Given the description of an element on the screen output the (x, y) to click on. 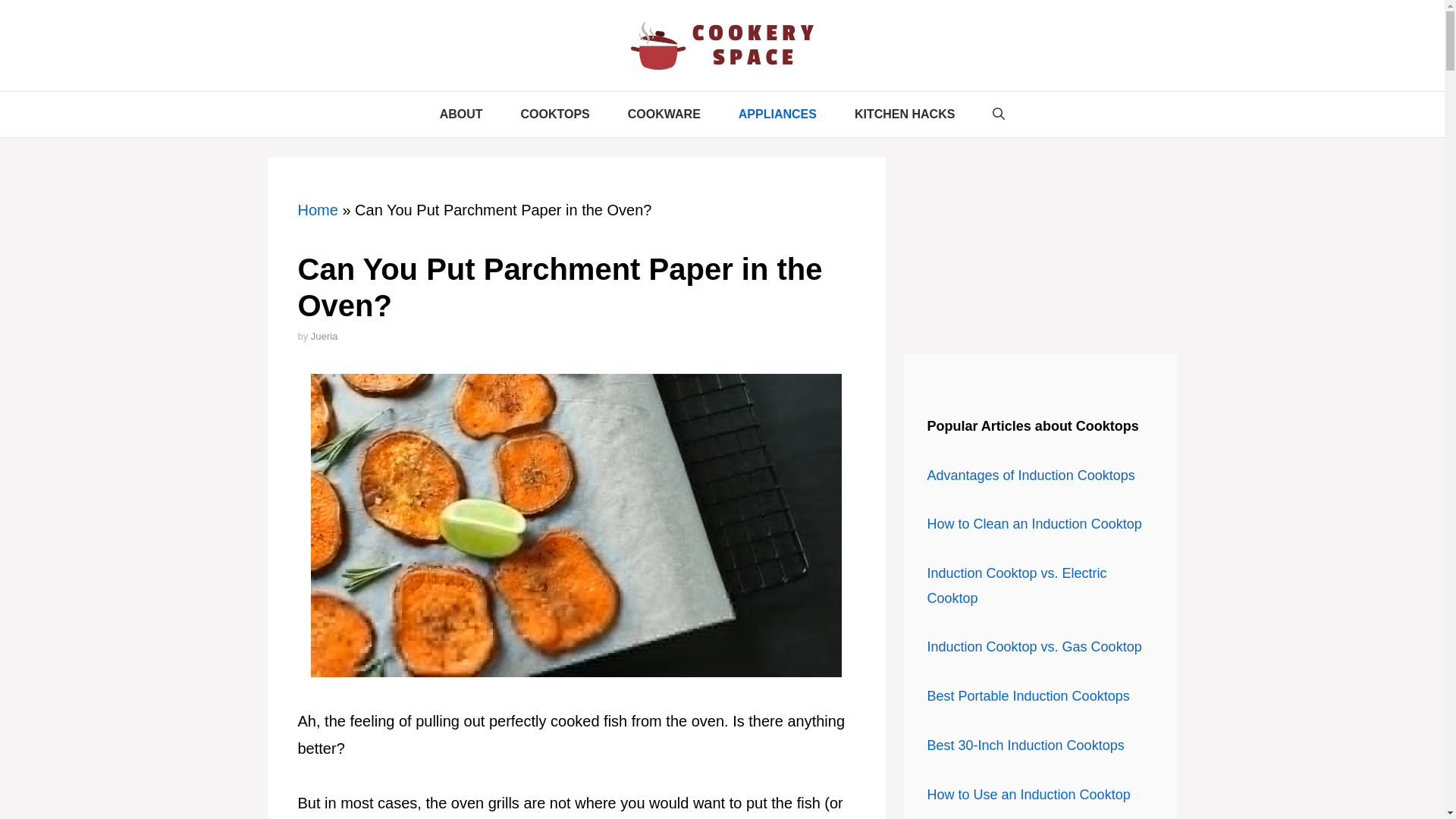
KITCHEN HACKS (904, 114)
APPLIANCES (777, 114)
COOKTOPS (555, 114)
View all posts by Jueria (324, 336)
ABOUT (461, 114)
COOKWARE (663, 114)
Jueria (324, 336)
Home (317, 209)
